Given the description of an element on the screen output the (x, y) to click on. 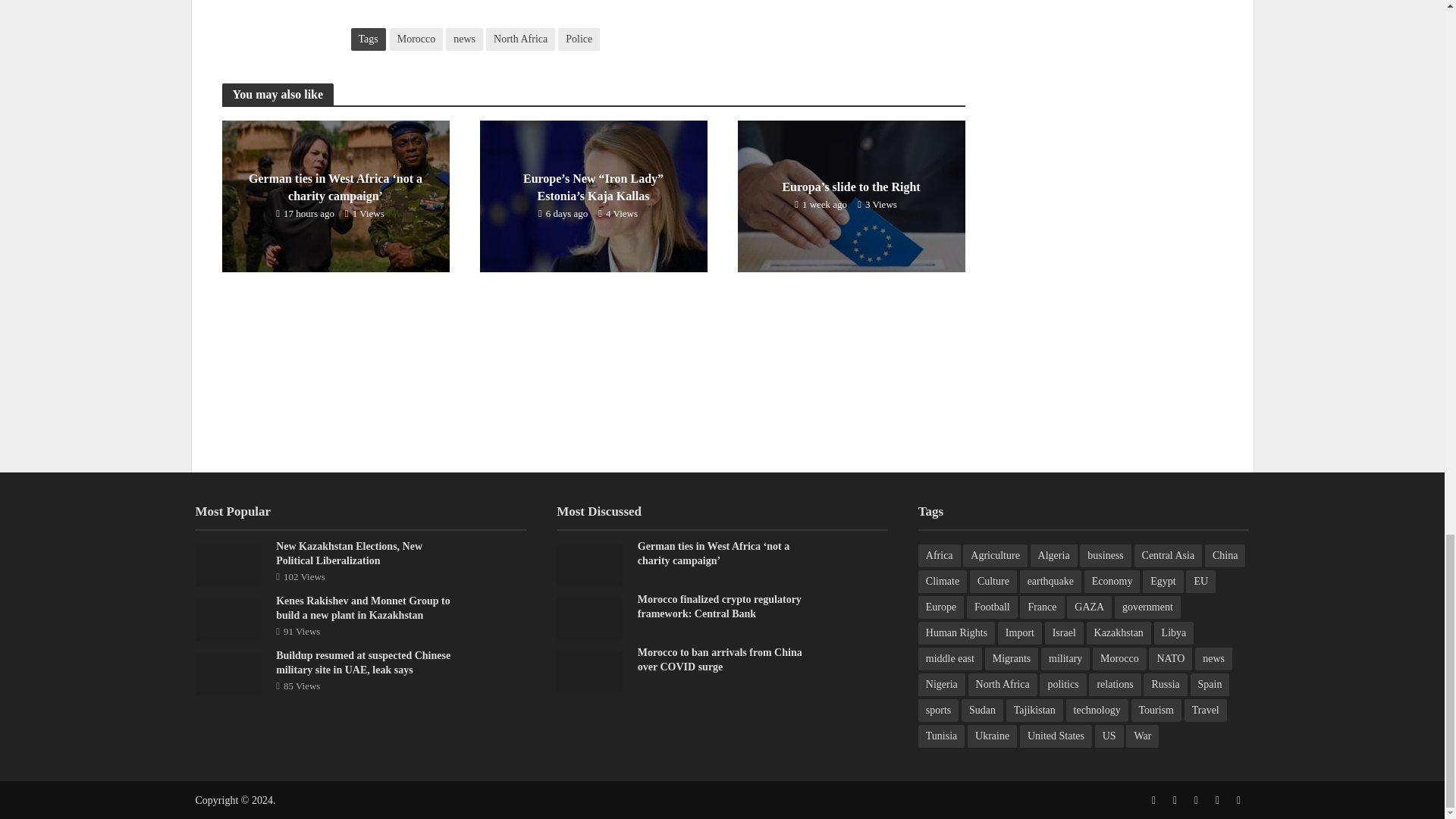
New Kazakhstan Elections, New Political Liberalization (228, 563)
